Given the description of an element on the screen output the (x, y) to click on. 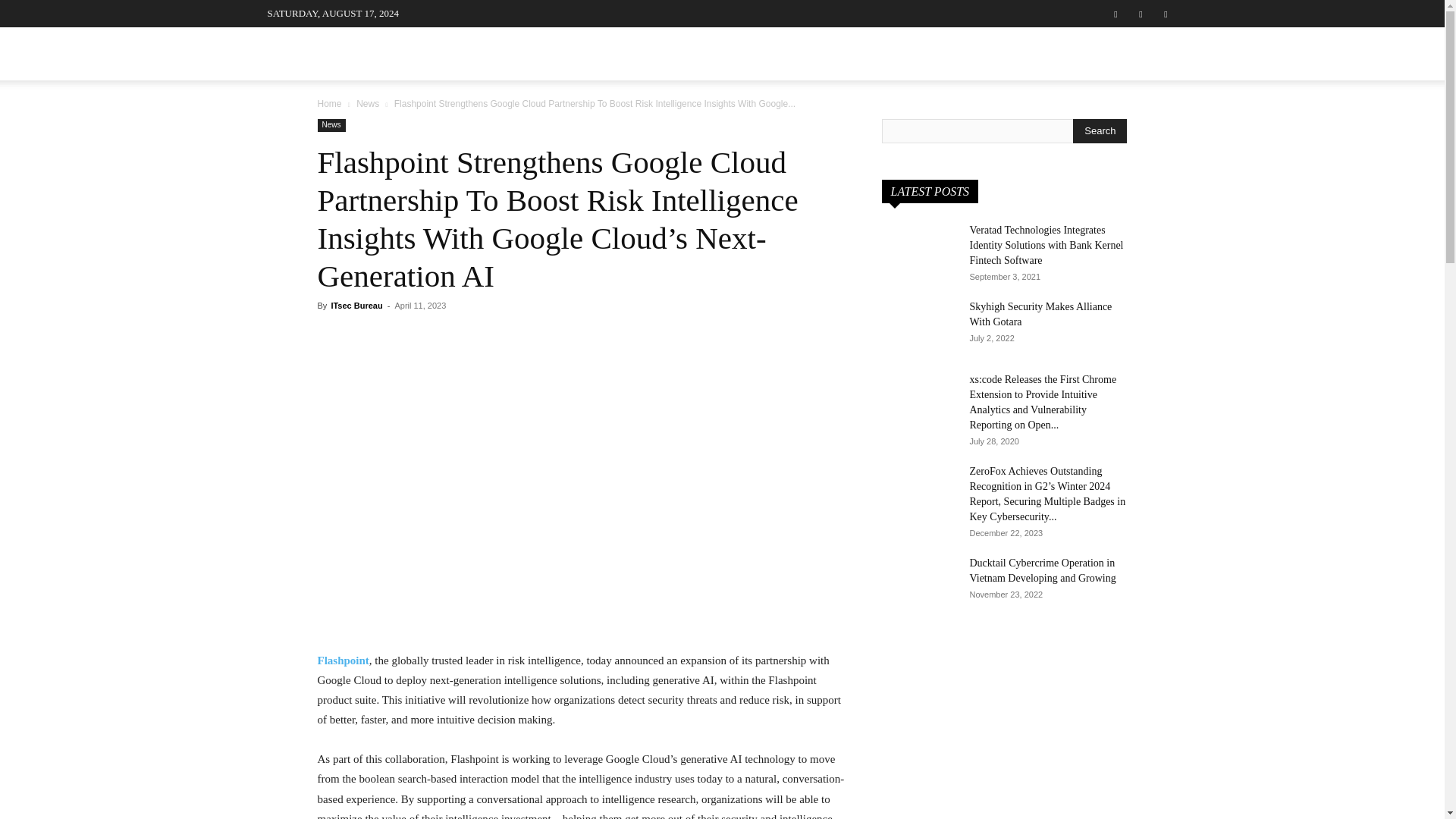
PODCASTS (701, 53)
INSIGHTS (784, 53)
News (331, 124)
View all posts in News (367, 103)
ITSecurityWire (381, 57)
RESOURCES (977, 53)
QUICK BYTES (877, 53)
ITSECURITYWIRE FAVCON (381, 57)
ARTICLES (616, 53)
News (367, 103)
